Given the description of an element on the screen output the (x, y) to click on. 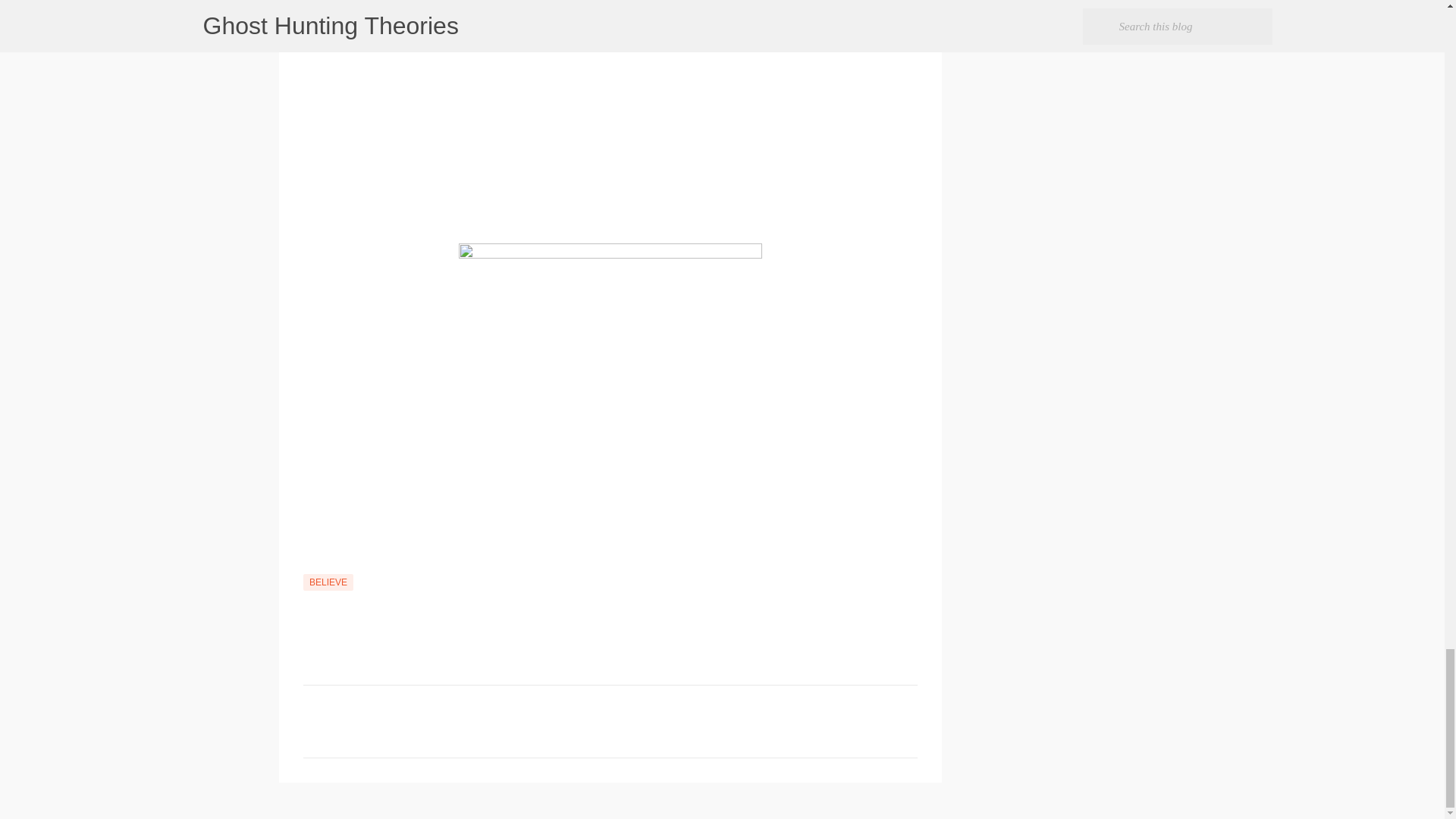
BELIEVE (327, 582)
